Given the description of an element on the screen output the (x, y) to click on. 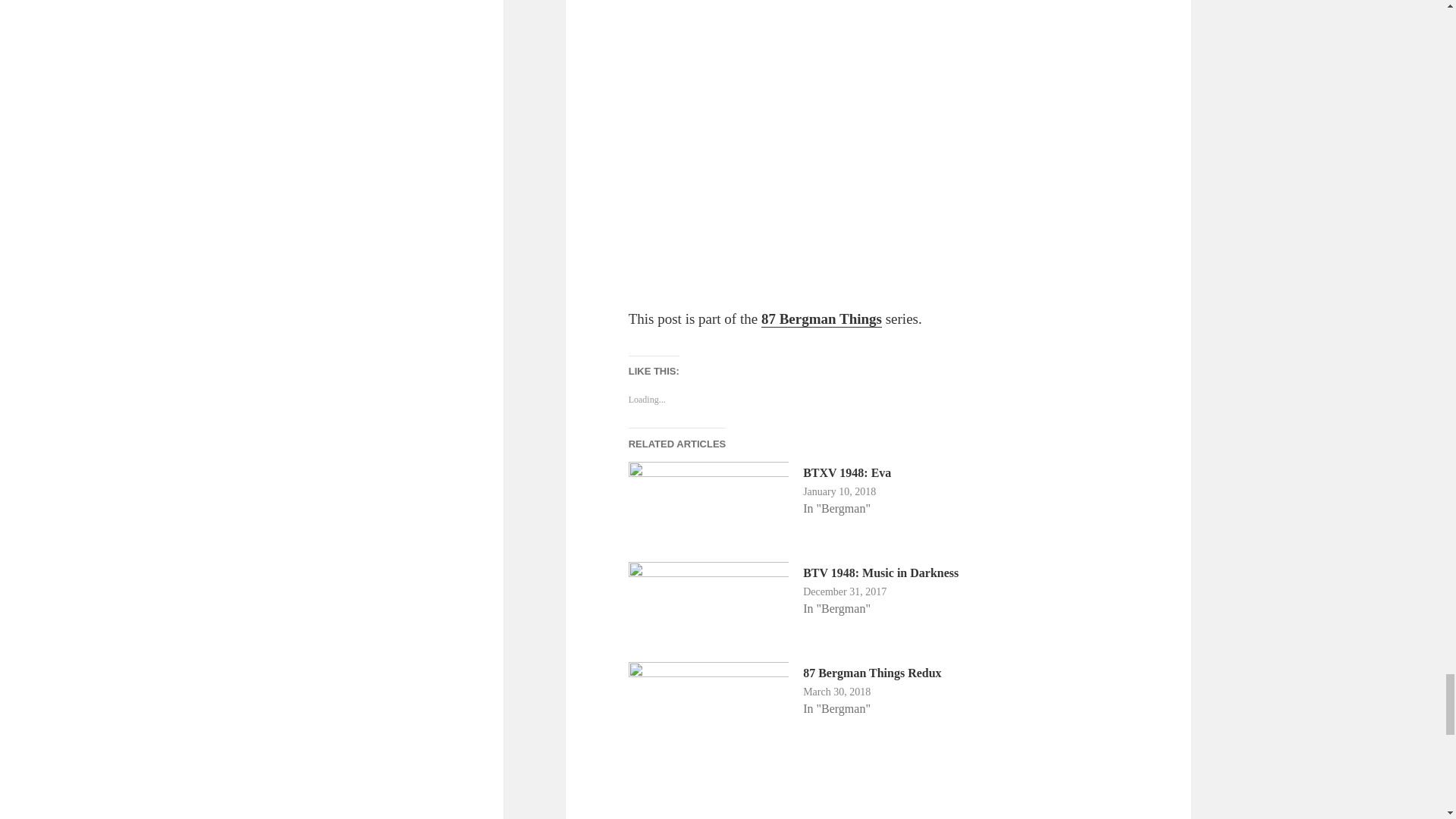
BTV 1948: Music in Darkness (880, 572)
BTXV 1948: Eva (847, 472)
87 Bergman Things Redux (871, 672)
